Given the description of an element on the screen output the (x, y) to click on. 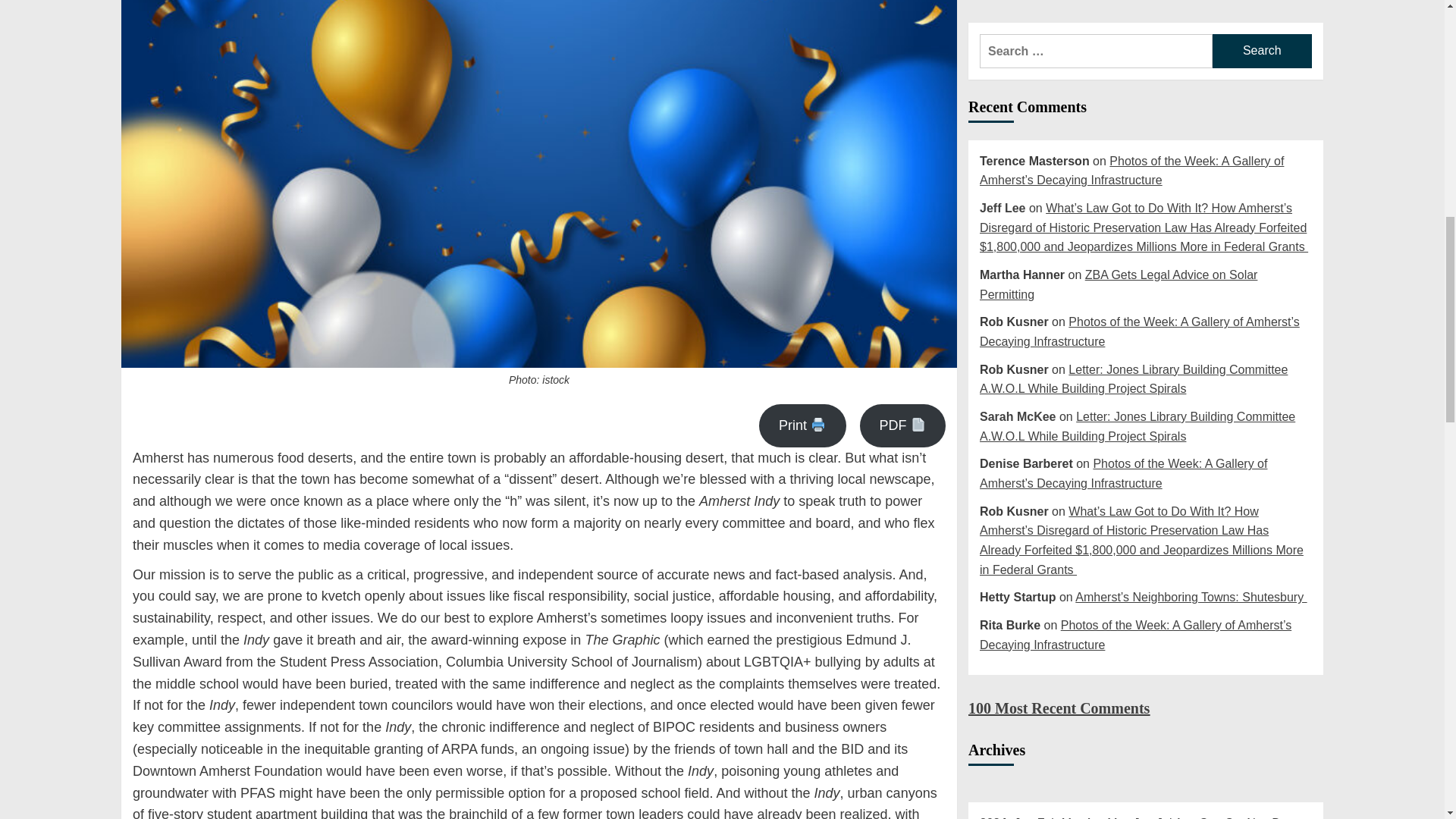
February 2001 (1047, 222)
Print (801, 425)
January 2001 (1023, 222)
June 2001 (1143, 222)
May 2001 (1117, 222)
April 2001 (1093, 222)
PDF (902, 425)
March 2001 (1072, 222)
July 2001 (1164, 222)
